Given the description of an element on the screen output the (x, y) to click on. 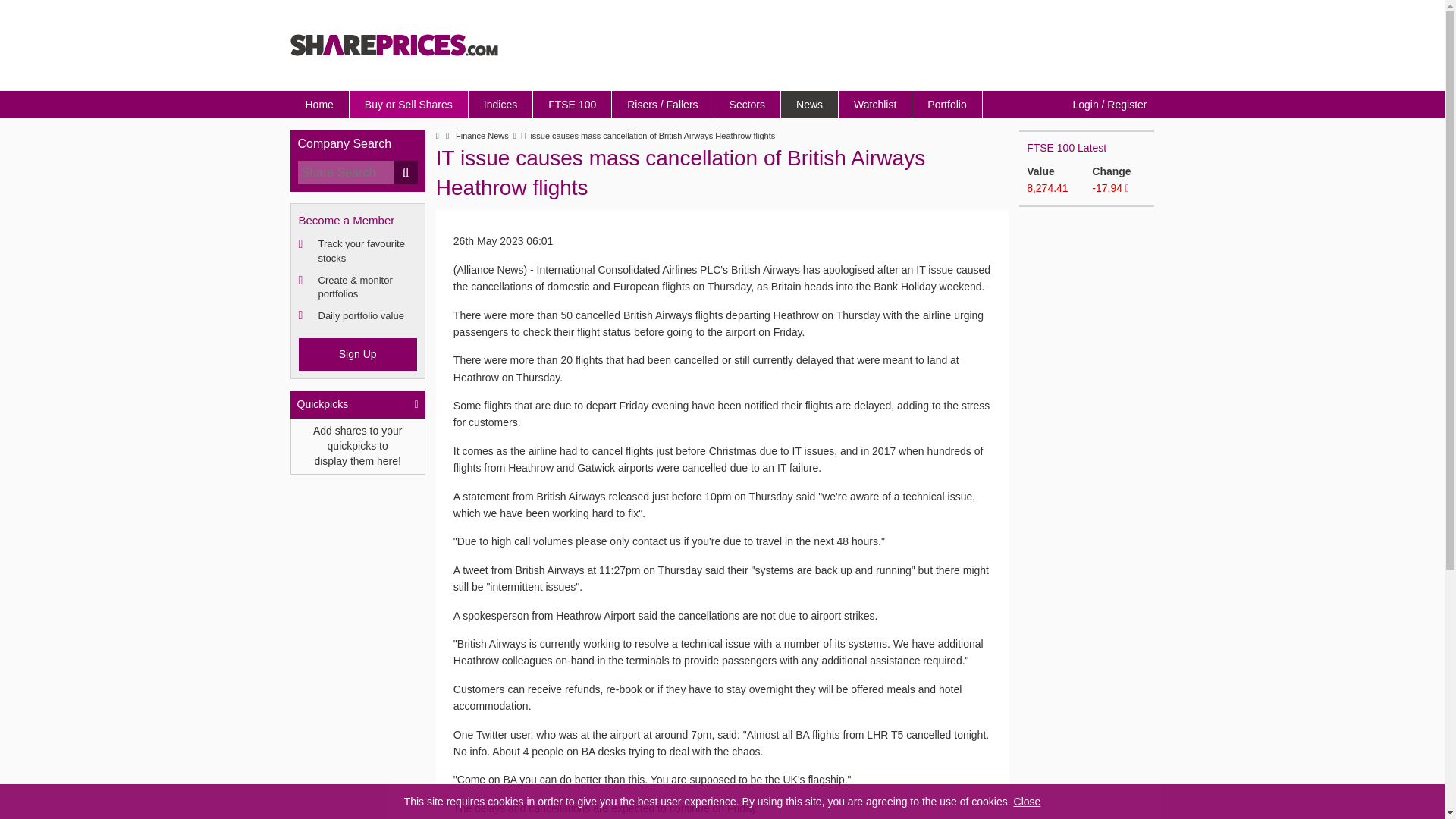
Portfolio (946, 103)
Buy or Sell Shares (408, 103)
FTSE 100 (571, 103)
Close (1027, 801)
Watchlist (875, 103)
Home (319, 103)
Sectors (747, 103)
News (809, 103)
Indices (500, 103)
Finance News (481, 136)
Sign Up (357, 354)
